Given the description of an element on the screen output the (x, y) to click on. 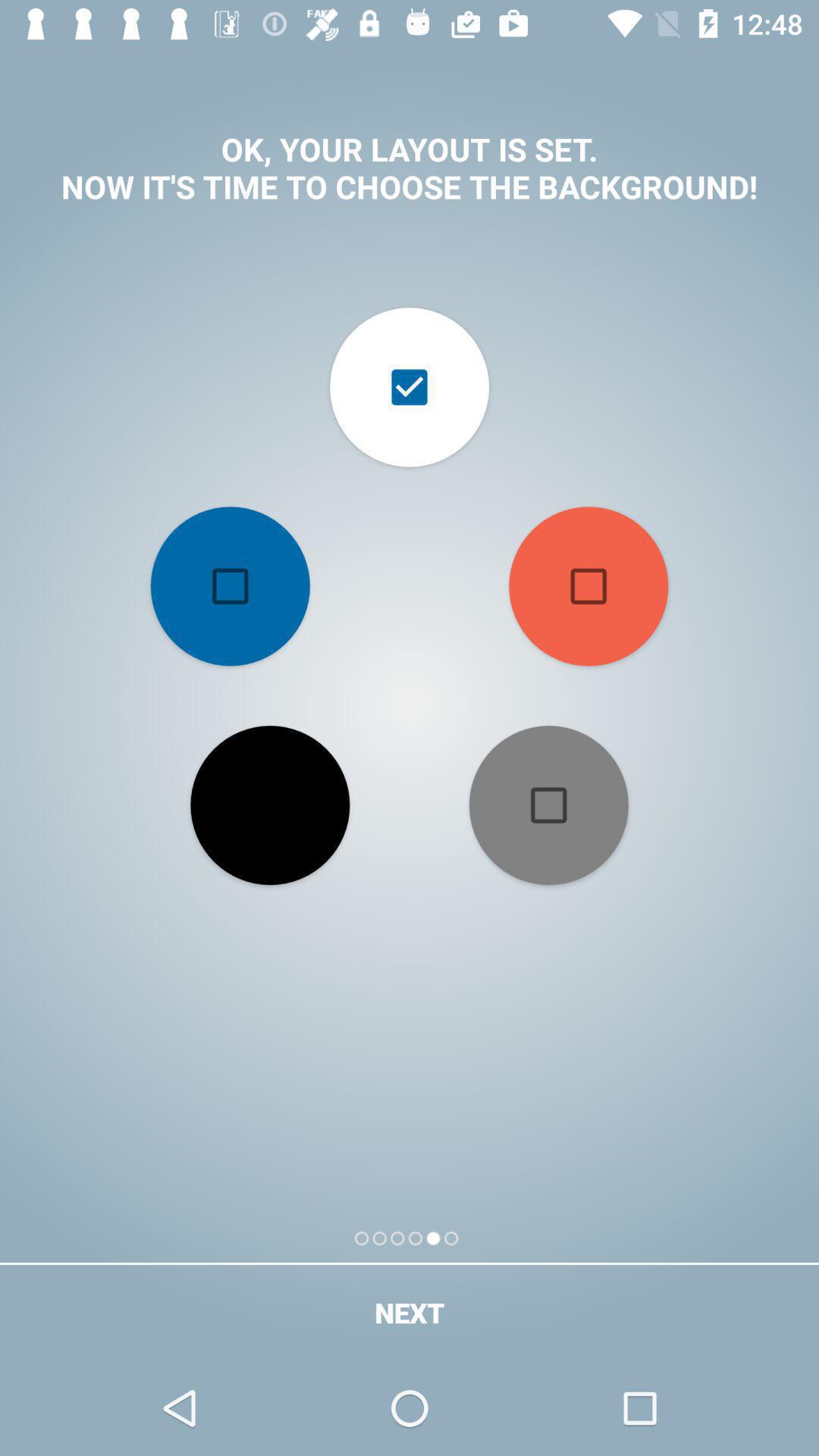
press next (409, 1312)
